Given the description of an element on the screen output the (x, y) to click on. 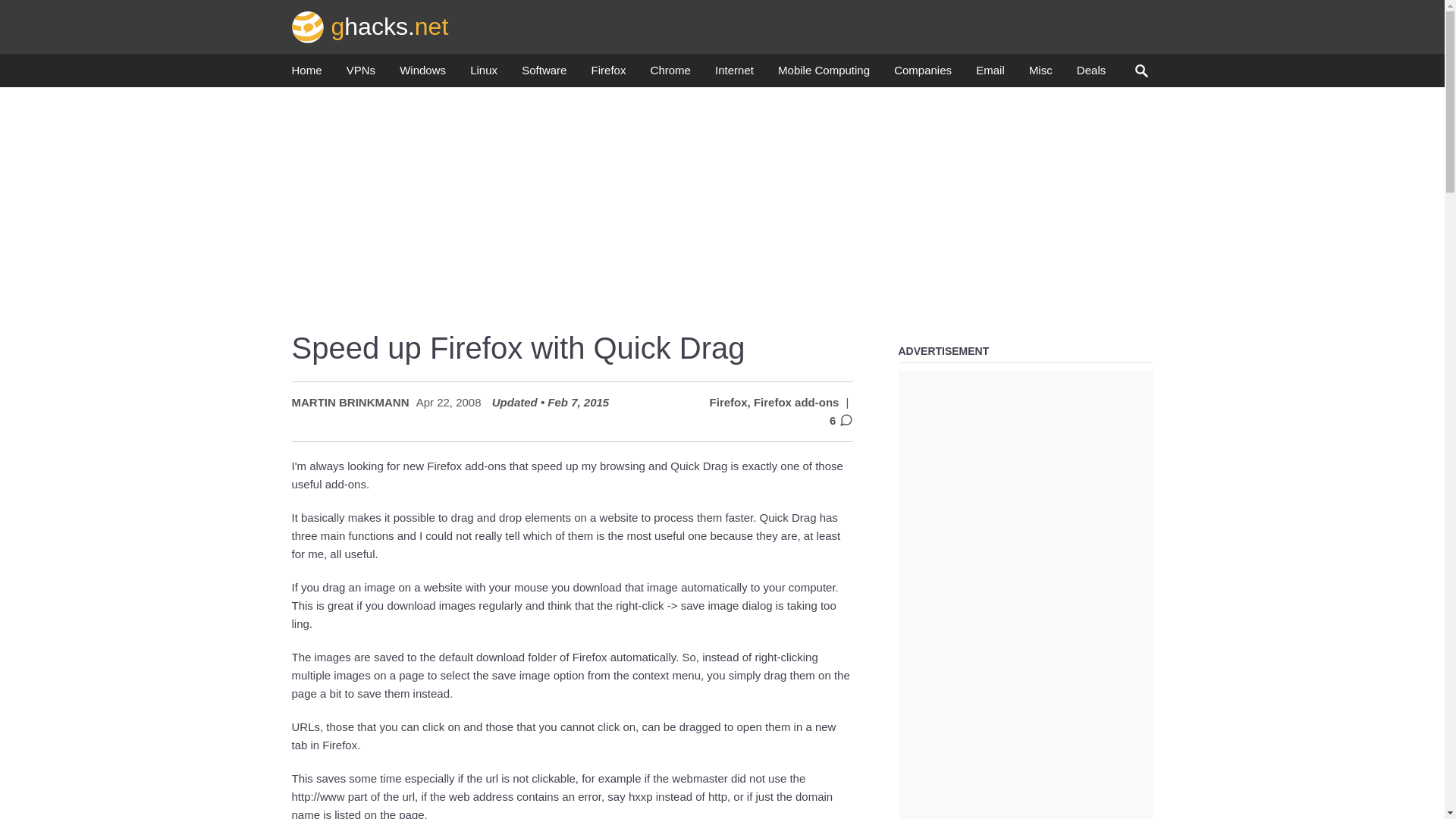
Internet (734, 73)
Firefox (608, 73)
ghacks.net (369, 26)
Software (543, 73)
Deals (1091, 73)
Chrome (670, 73)
Companies (922, 73)
Linux (483, 73)
Email (989, 73)
Home (306, 73)
